Given the description of an element on the screen output the (x, y) to click on. 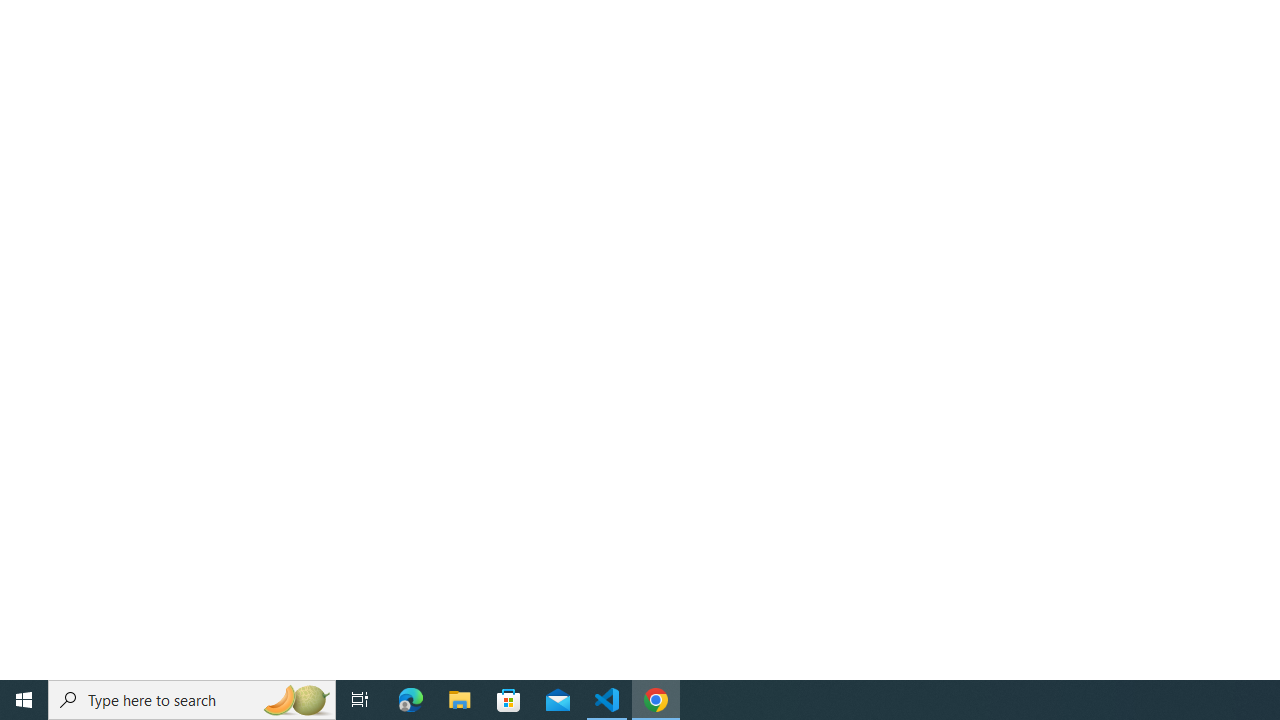
Search highlights icon opens search home window (295, 699)
Google Chrome - 1 running window (656, 699)
Microsoft Edge (411, 699)
Type here to search (191, 699)
Start (24, 699)
Microsoft Store (509, 699)
File Explorer (460, 699)
Visual Studio Code - 1 running window (607, 699)
Task View (359, 699)
